Given the description of an element on the screen output the (x, y) to click on. 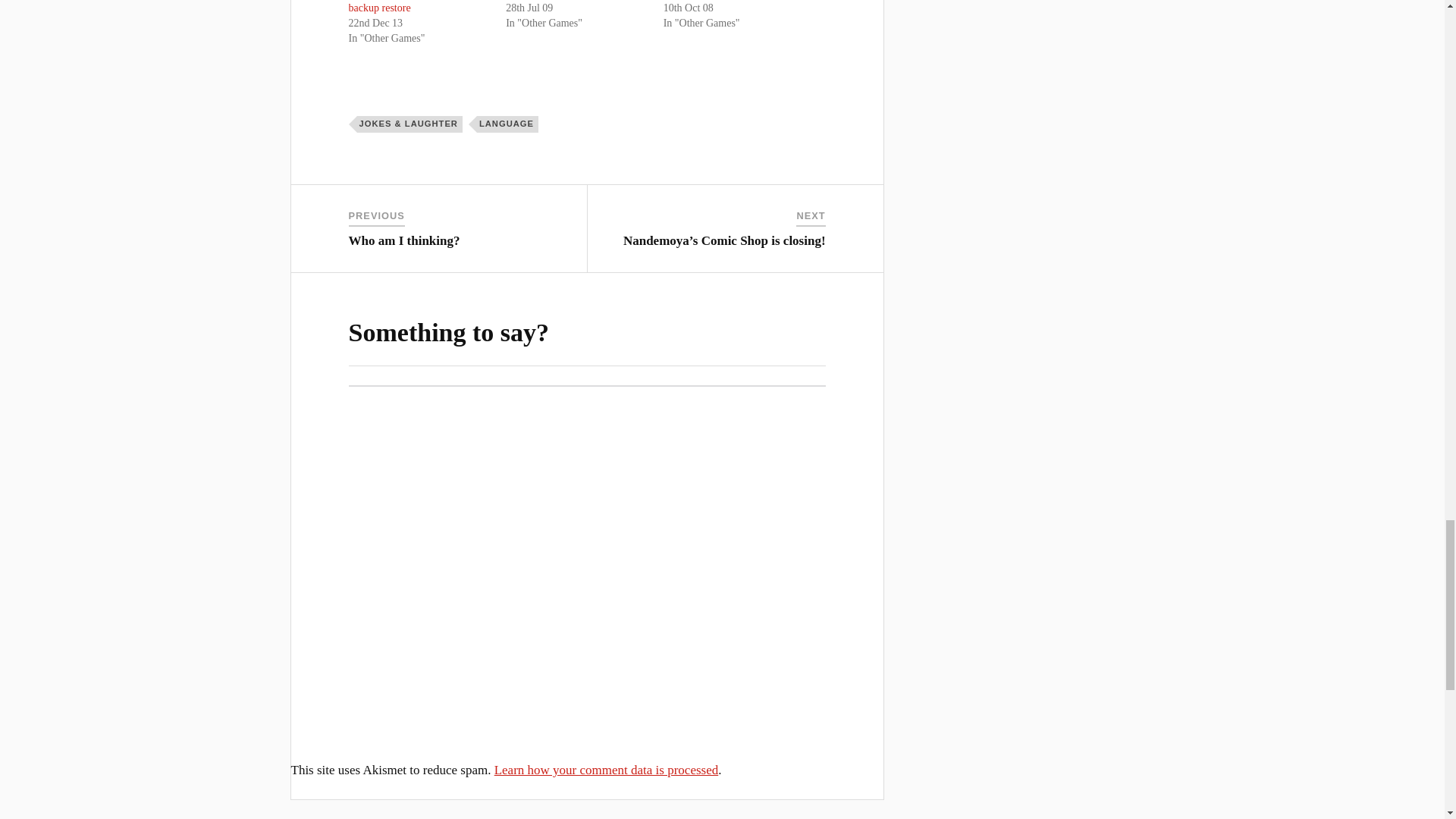
LANGUAGE (507, 124)
Notes to self about Playstation 3 backup restore (417, 6)
Who am I thinking? (404, 240)
Learn how your comment data is processed (607, 769)
Notes to self about Playstation 3 backup restore (417, 6)
